Given the description of an element on the screen output the (x, y) to click on. 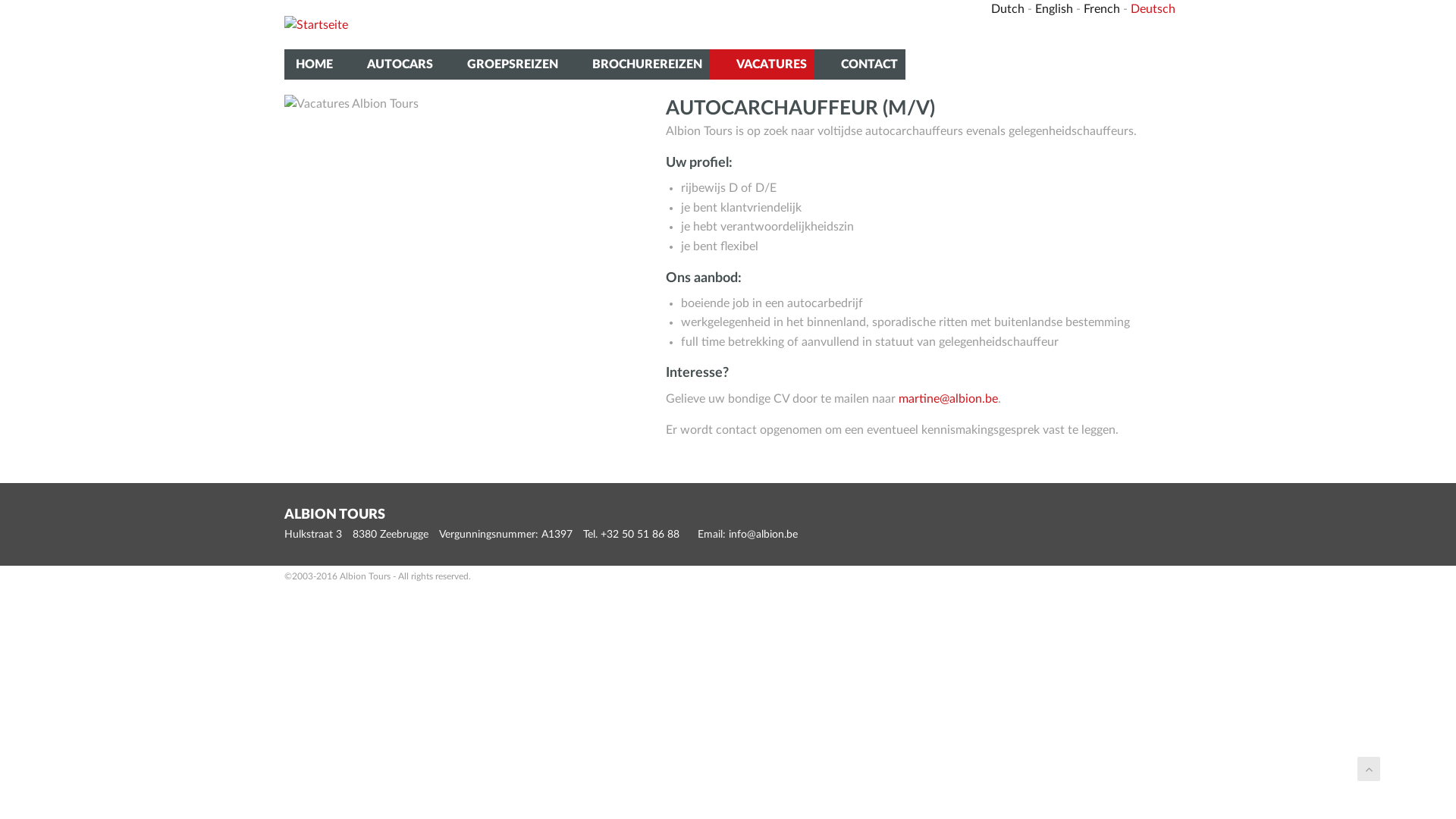
BROCHUREREIZEN Element type: text (637, 64)
HOME Element type: text (312, 64)
Facebook Element type: text (1162, 30)
VACATURES Element type: text (761, 64)
martine@albion.be Element type: text (947, 398)
Direkt zum Inhalt Element type: text (0, 0)
French Element type: text (1101, 9)
Deutsch Element type: text (1152, 9)
Dutch Element type: text (1007, 9)
+32 50 51 86 88 Element type: text (639, 534)
GROEPSREIZEN Element type: text (502, 64)
info@albion.be Element type: text (762, 534)
Startseite Element type: hover (316, 24)
CONTACT Element type: text (859, 64)
English Element type: text (1054, 9)
AUTOCARS Element type: text (390, 64)
